Given the description of an element on the screen output the (x, y) to click on. 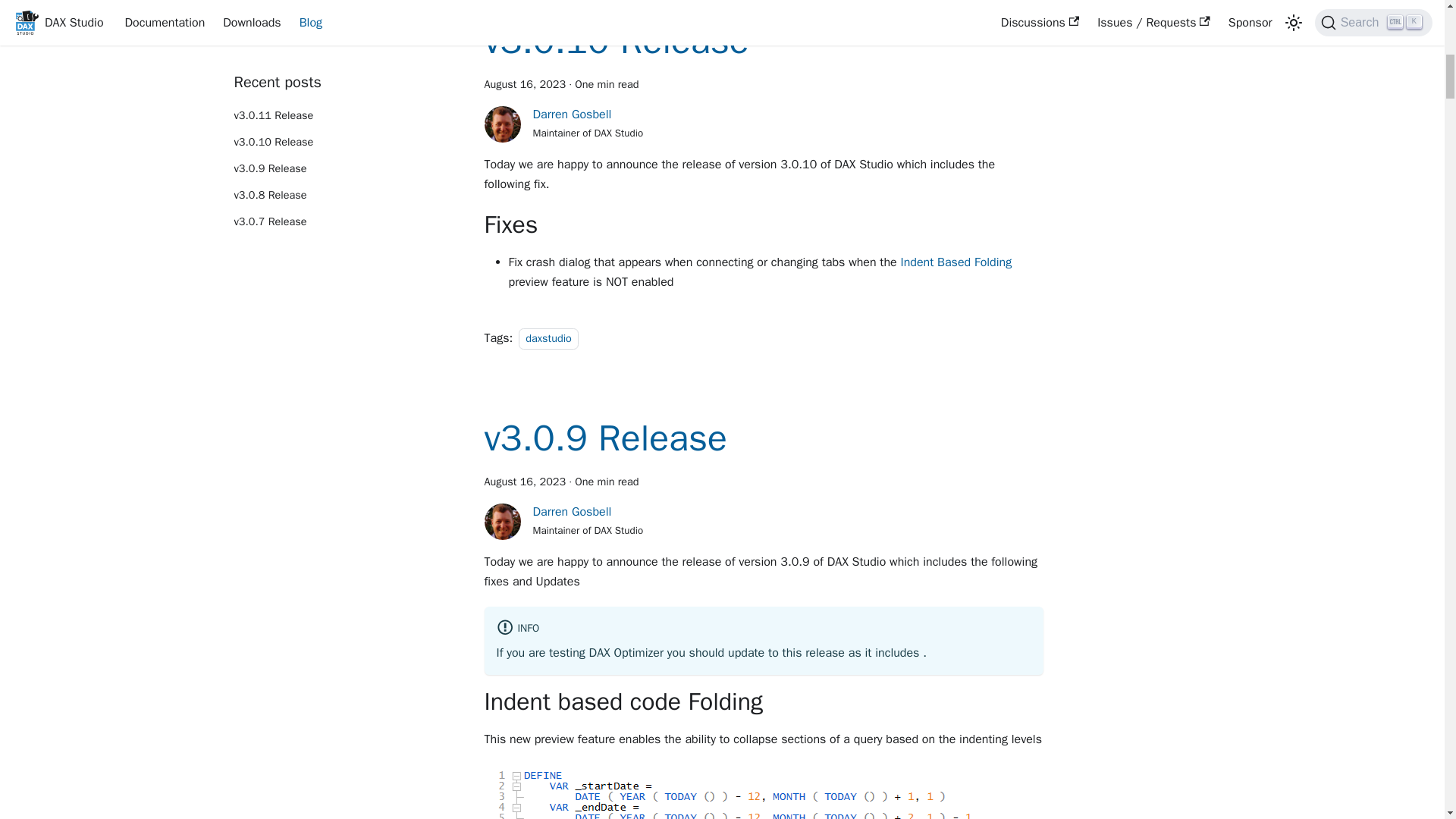
Darren Gosbell (571, 114)
v3.0.10 Release (615, 40)
daxstudio (548, 338)
v3.0.9 Release (604, 438)
Indent Based Folding (956, 262)
